Given the description of an element on the screen output the (x, y) to click on. 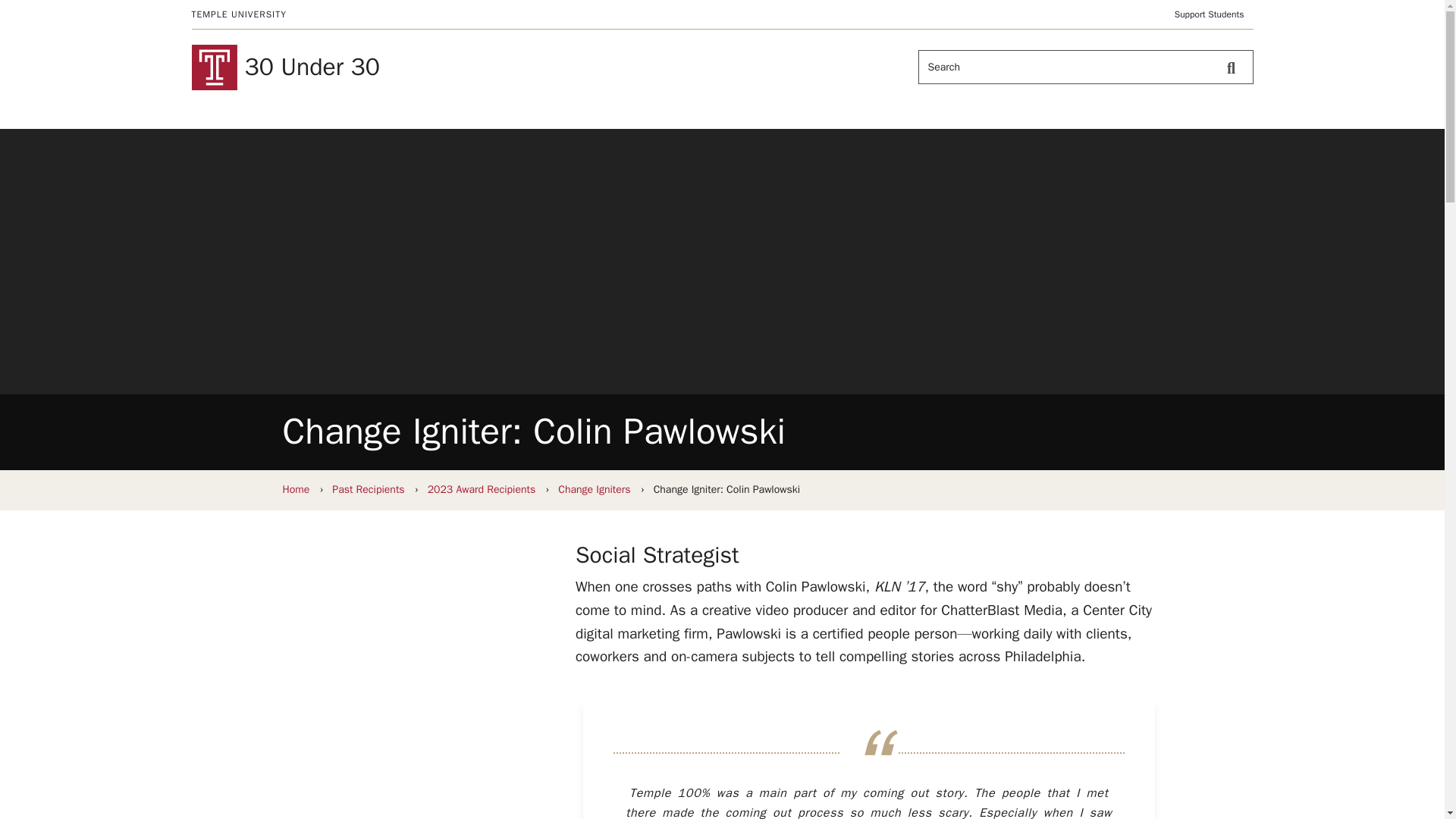
TEMPLE UNIVERSITY (237, 14)
Search (1235, 67)
30 Under 30 (452, 66)
Search (1235, 67)
Search (1235, 67)
Support Students (1209, 14)
